Given the description of an element on the screen output the (x, y) to click on. 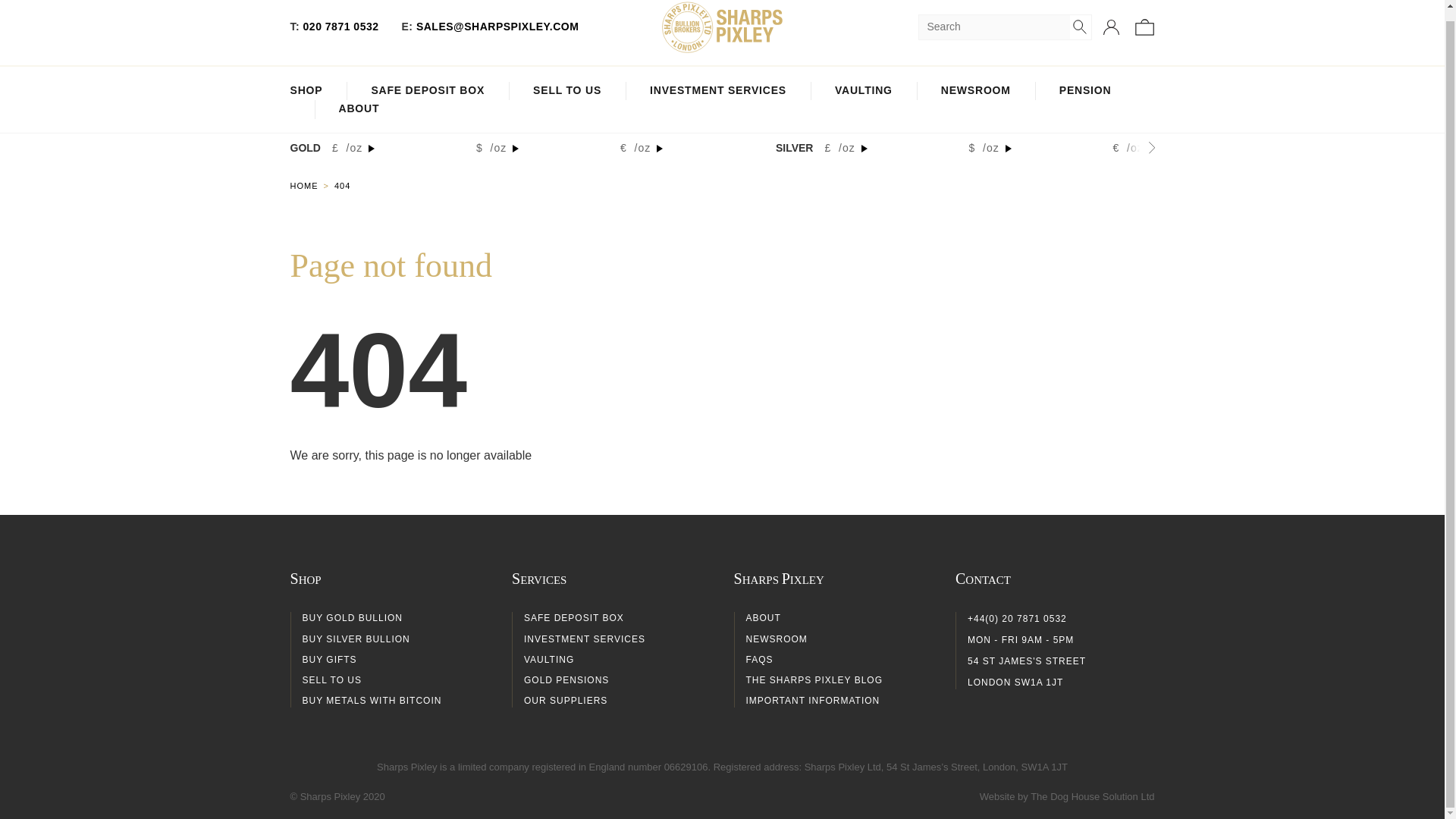
Vaulting (863, 90)
Newsroom (975, 90)
Buy gold oline (305, 90)
Sell to us (566, 90)
SHOP (305, 90)
About (357, 109)
Investment Services (717, 90)
Sharps Pixley - Buy Gold online (722, 26)
Buy gold online (311, 185)
Safe Deposit Boxes in London (427, 90)
